Given the description of an element on the screen output the (x, y) to click on. 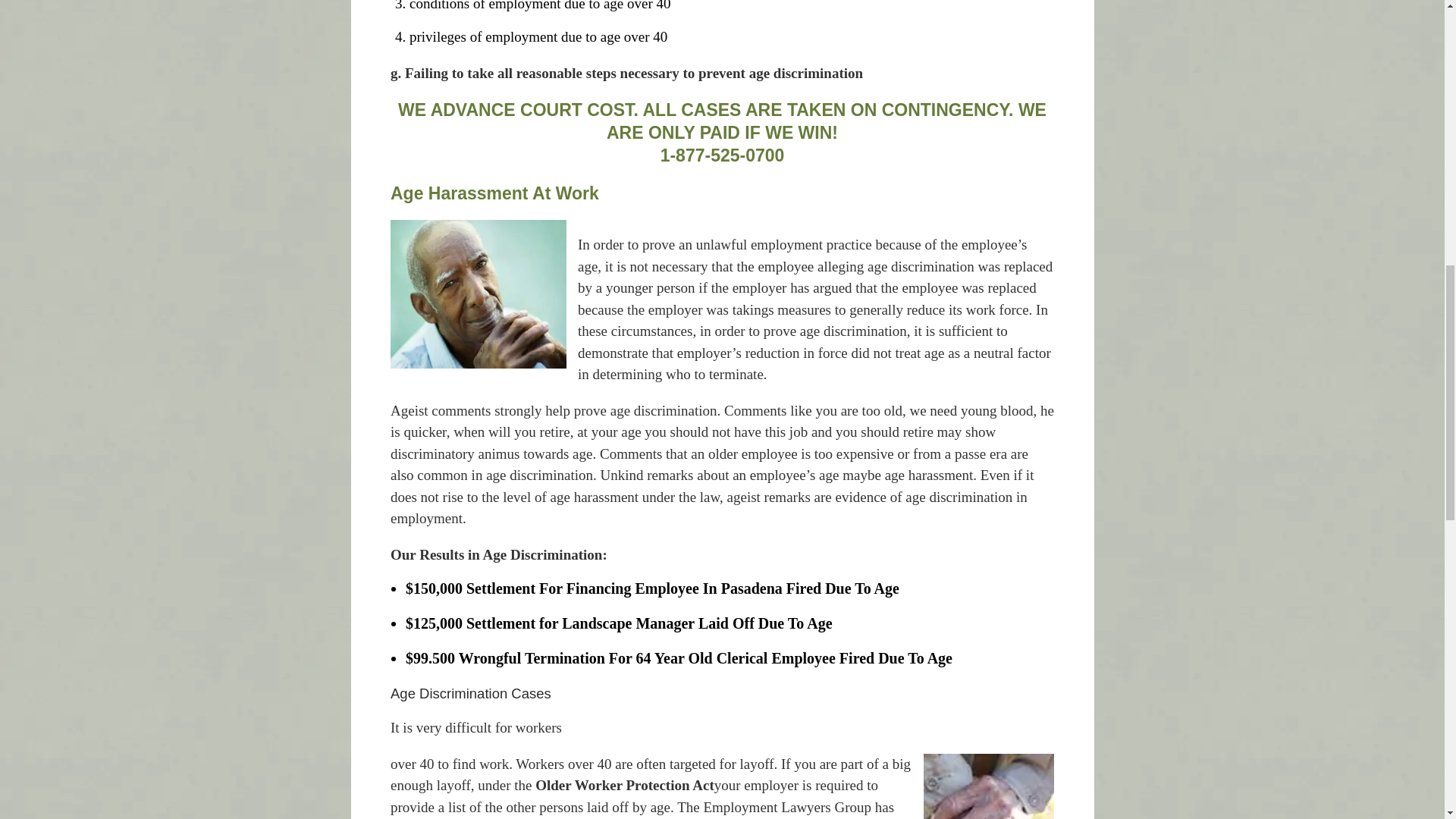
Los Angeles Age Discriminatilon Lawyer (988, 786)
Employment Age Discrimination Lawyer (478, 294)
